Given the description of an element on the screen output the (x, y) to click on. 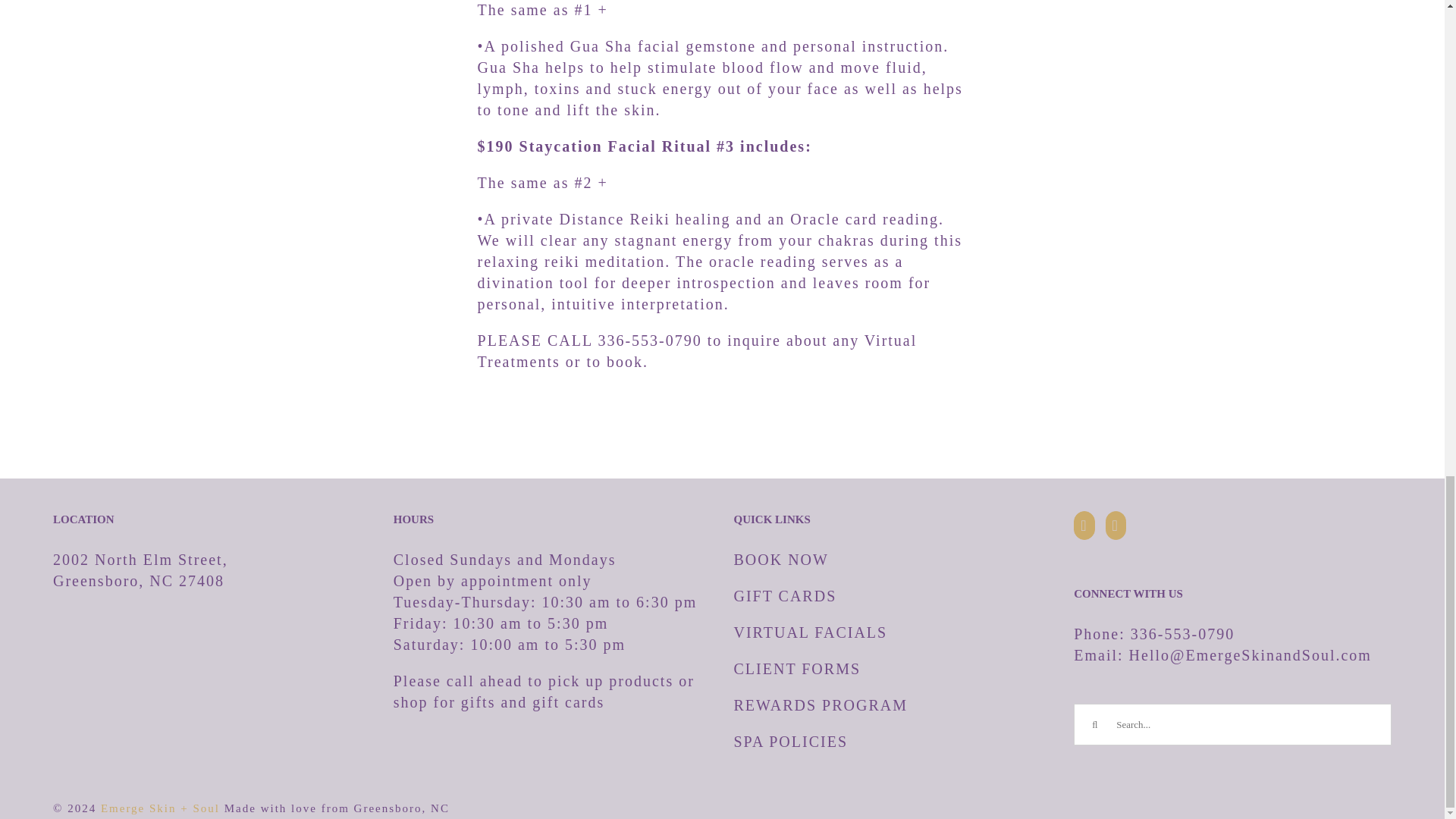
SPA POLICIES (790, 741)
REWARDS PROGRAM (820, 704)
GIFT CARDS (785, 596)
VIRTUAL FACIALS (810, 632)
CLIENT FORMS (797, 668)
BOOK NOW (780, 559)
